Given the description of an element on the screen output the (x, y) to click on. 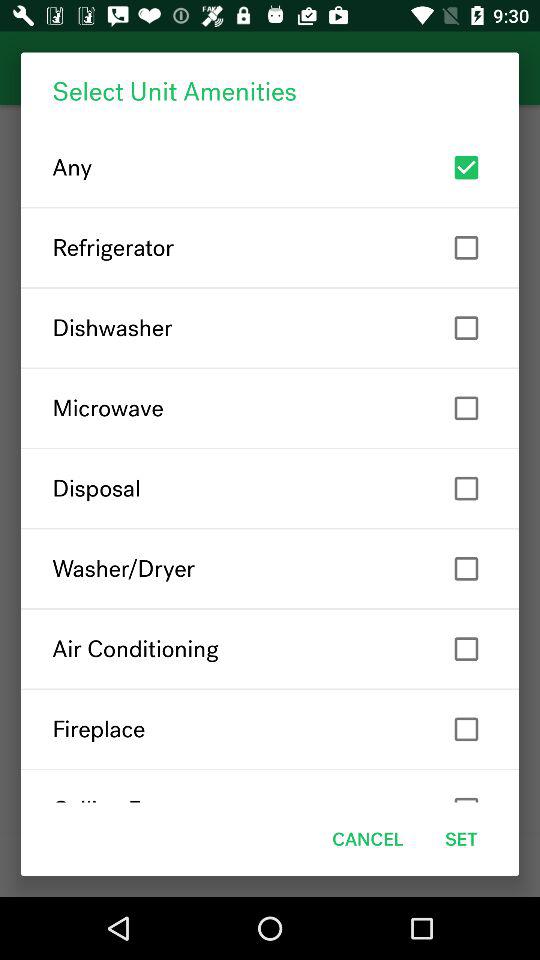
tap the cancel item (367, 838)
